Given the description of an element on the screen output the (x, y) to click on. 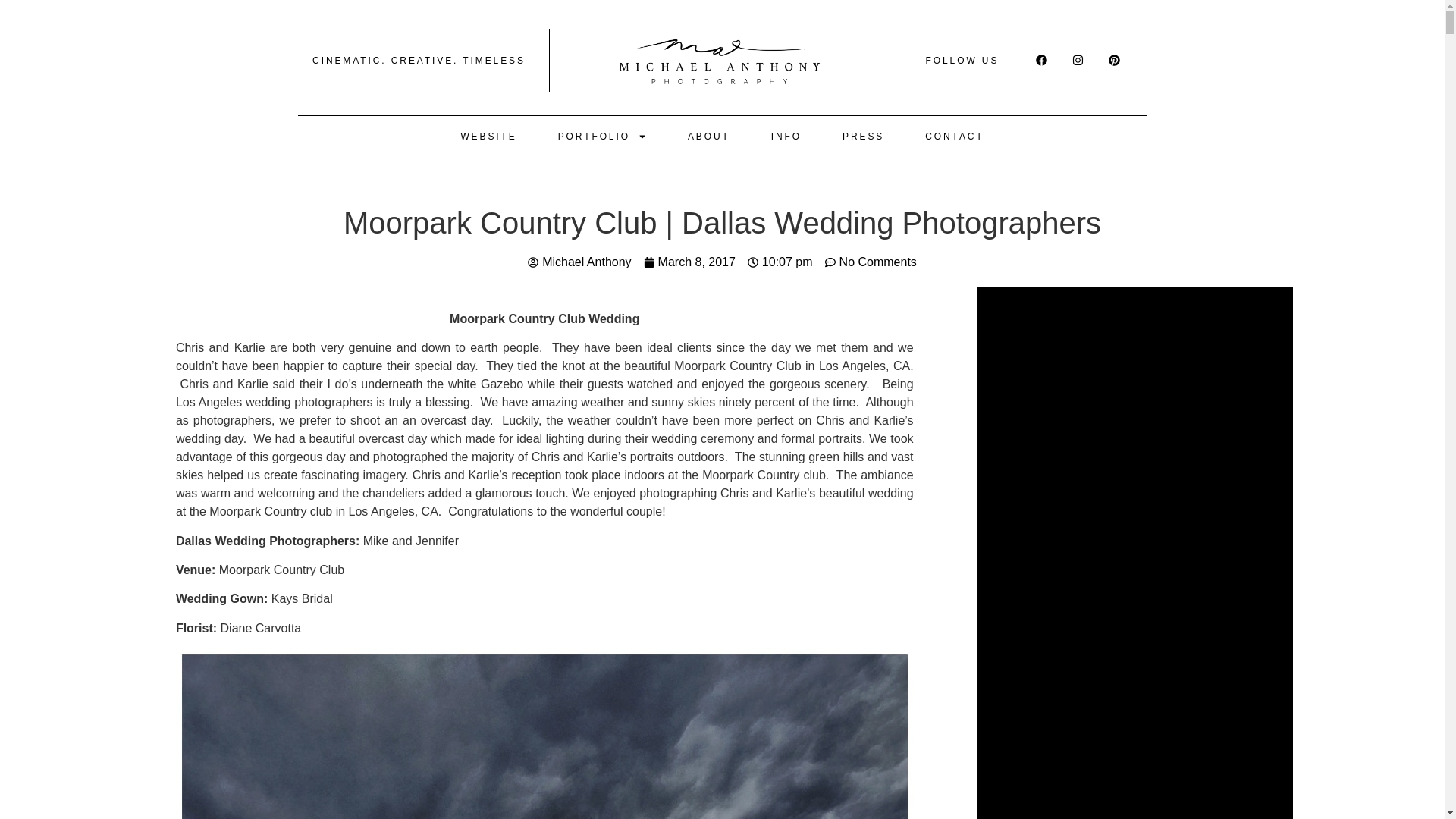
INFO (786, 136)
WEBSITE (488, 136)
PORTFOLIO (601, 136)
ABOUT (708, 136)
PRESS (863, 136)
CONTACT (954, 136)
